Given the description of an element on the screen output the (x, y) to click on. 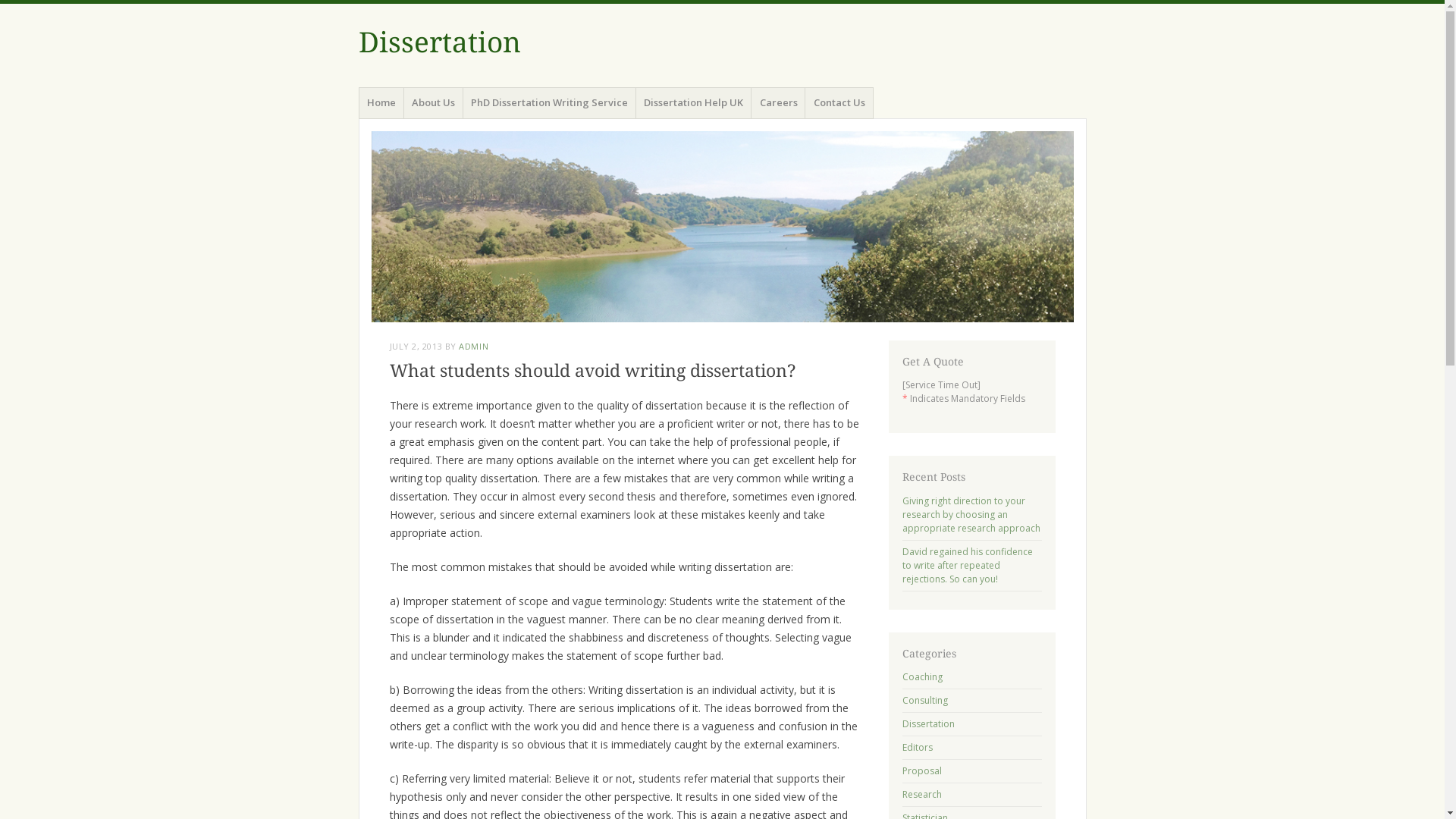
Dissertation Help UK Element type: text (693, 103)
Contact Us Element type: text (838, 103)
Skip to content Element type: text (357, 108)
PhD Dissertation Writing Service Element type: text (549, 103)
Home Element type: text (380, 103)
About Us Element type: text (433, 103)
Consulting Element type: text (924, 699)
ADMIN Element type: text (473, 345)
Coaching Element type: text (922, 676)
JULY 2, 2013 Element type: text (415, 345)
Research Element type: text (921, 793)
Dissertation Element type: text (438, 42)
Proposal Element type: text (921, 770)
Editors Element type: text (917, 746)
Careers Element type: text (778, 103)
Dissertation Element type: hover (722, 226)
Dissertation Element type: text (928, 723)
